Given the description of an element on the screen output the (x, y) to click on. 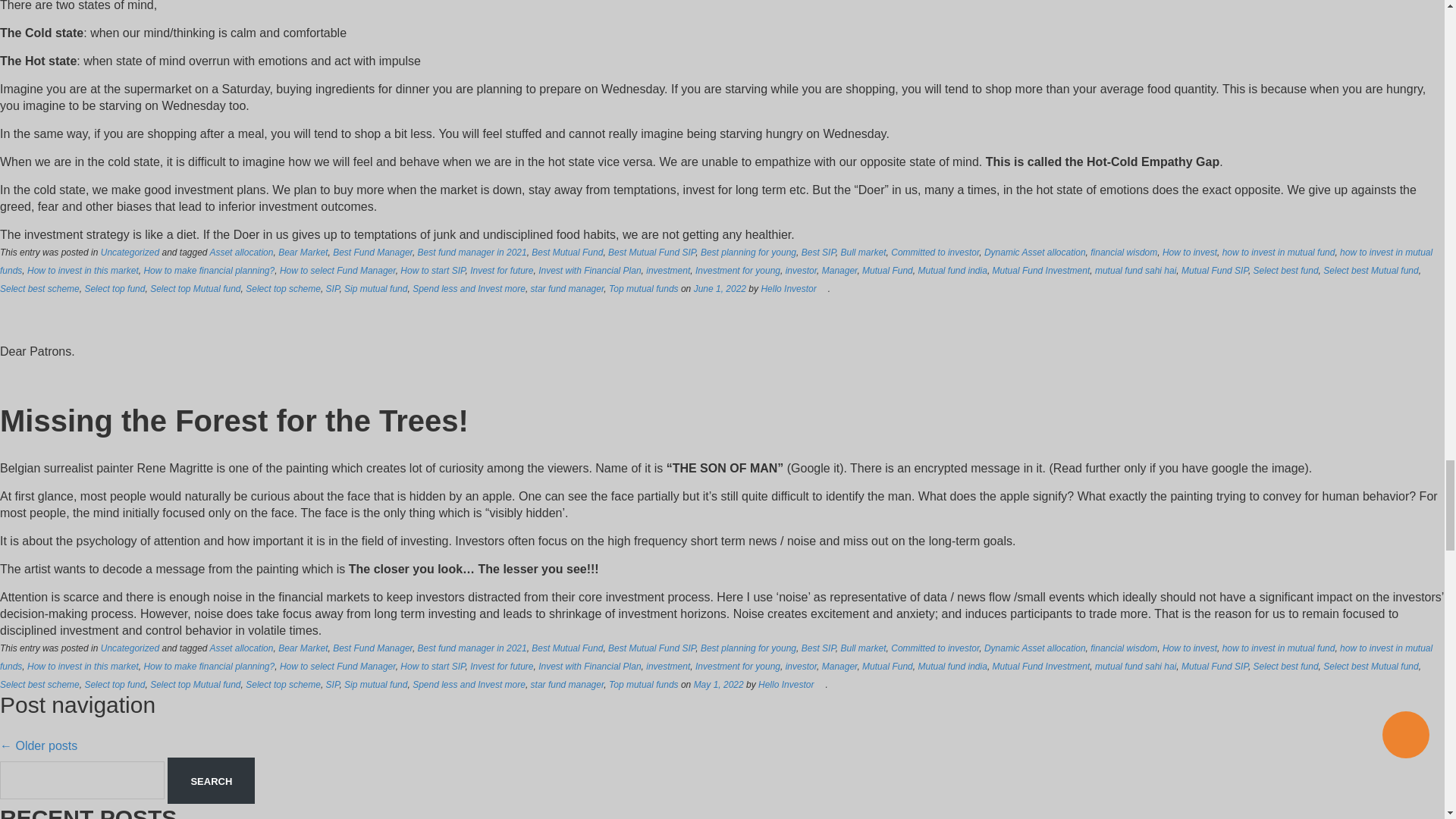
7:10 am (719, 288)
Search (210, 780)
